Given the description of an element on the screen output the (x, y) to click on. 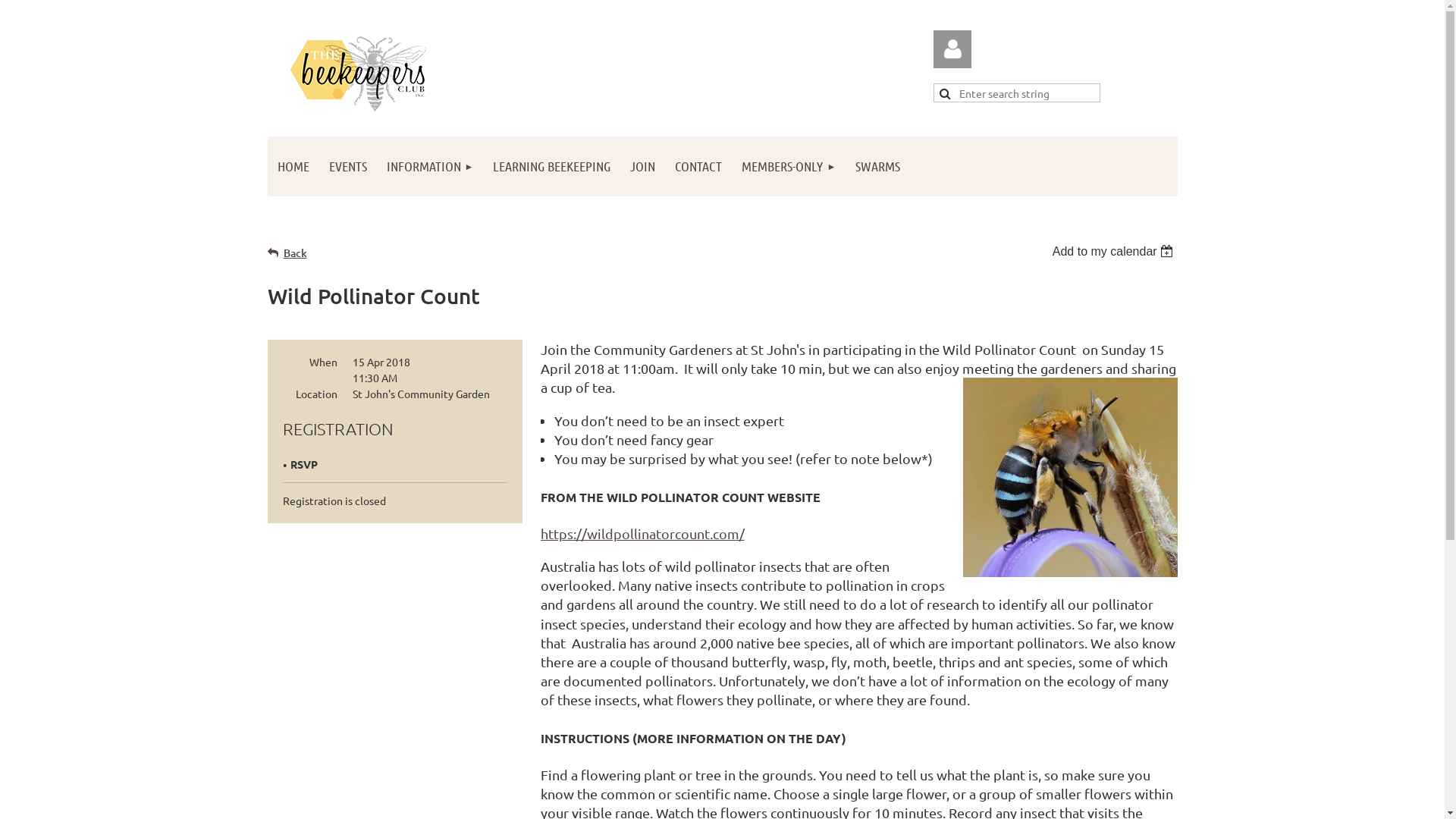
https://wildpollinatorcount.com/ Element type: text (641, 533)
EVENTS Element type: text (347, 166)
MEMBERS-ONLY Element type: text (788, 166)
Back Element type: text (286, 252)
JOIN Element type: text (642, 166)
LEARNING BEEKEEPING Element type: text (551, 166)
INFORMATION Element type: text (429, 166)
SWARMS Element type: text (877, 166)
HOME Element type: text (292, 166)
CONTACT Element type: text (698, 166)
Log in Element type: text (952, 49)
